Given the description of an element on the screen output the (x, y) to click on. 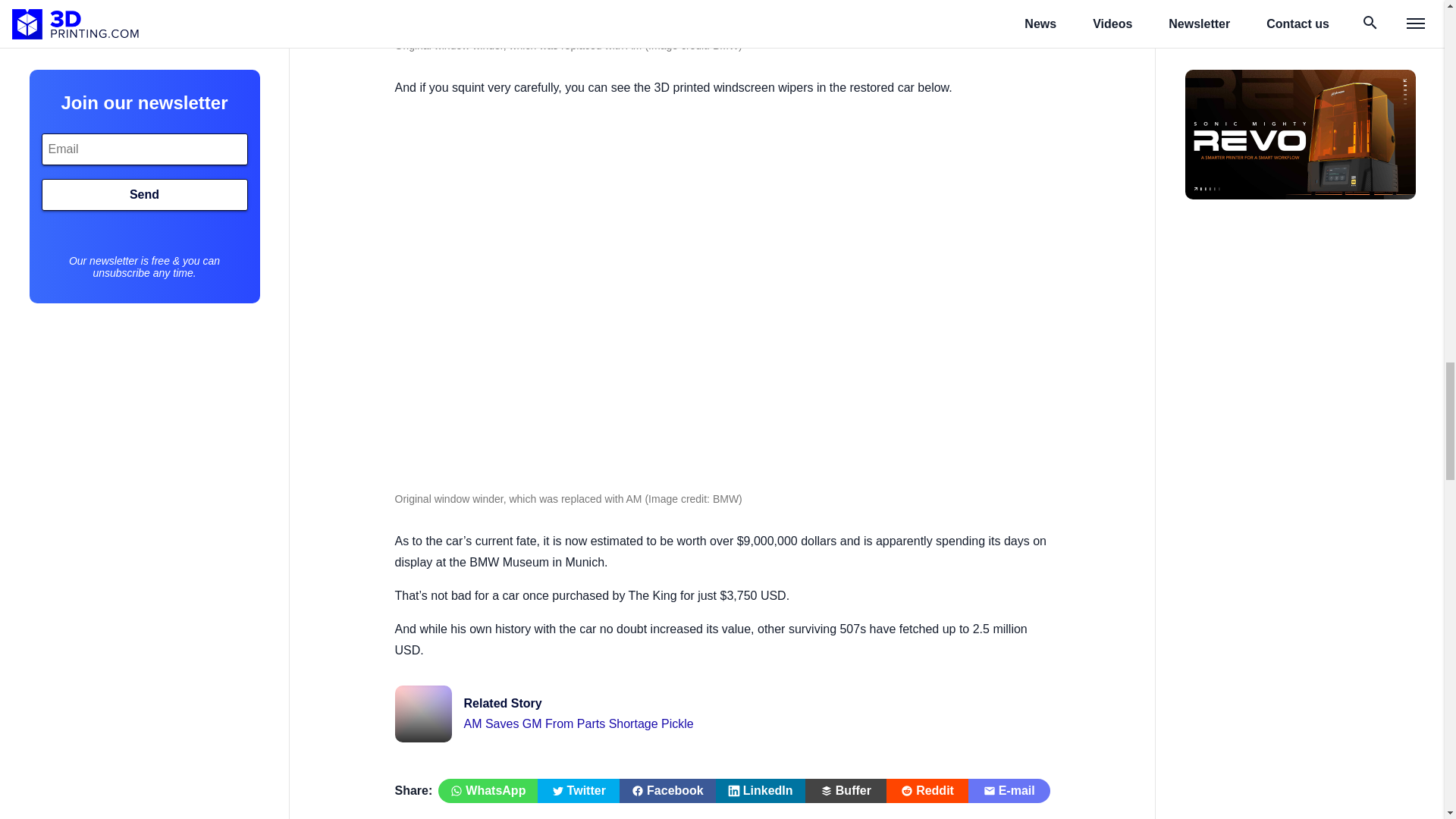
Buffer (845, 790)
WhatsApp (487, 790)
Reddit (927, 790)
Share by Email (1008, 790)
AM Saves GM From Parts Shortage Pickle (721, 713)
Facebook (721, 713)
LinkedIn (668, 790)
Twitter (760, 790)
E-mail (578, 790)
